Given the description of an element on the screen output the (x, y) to click on. 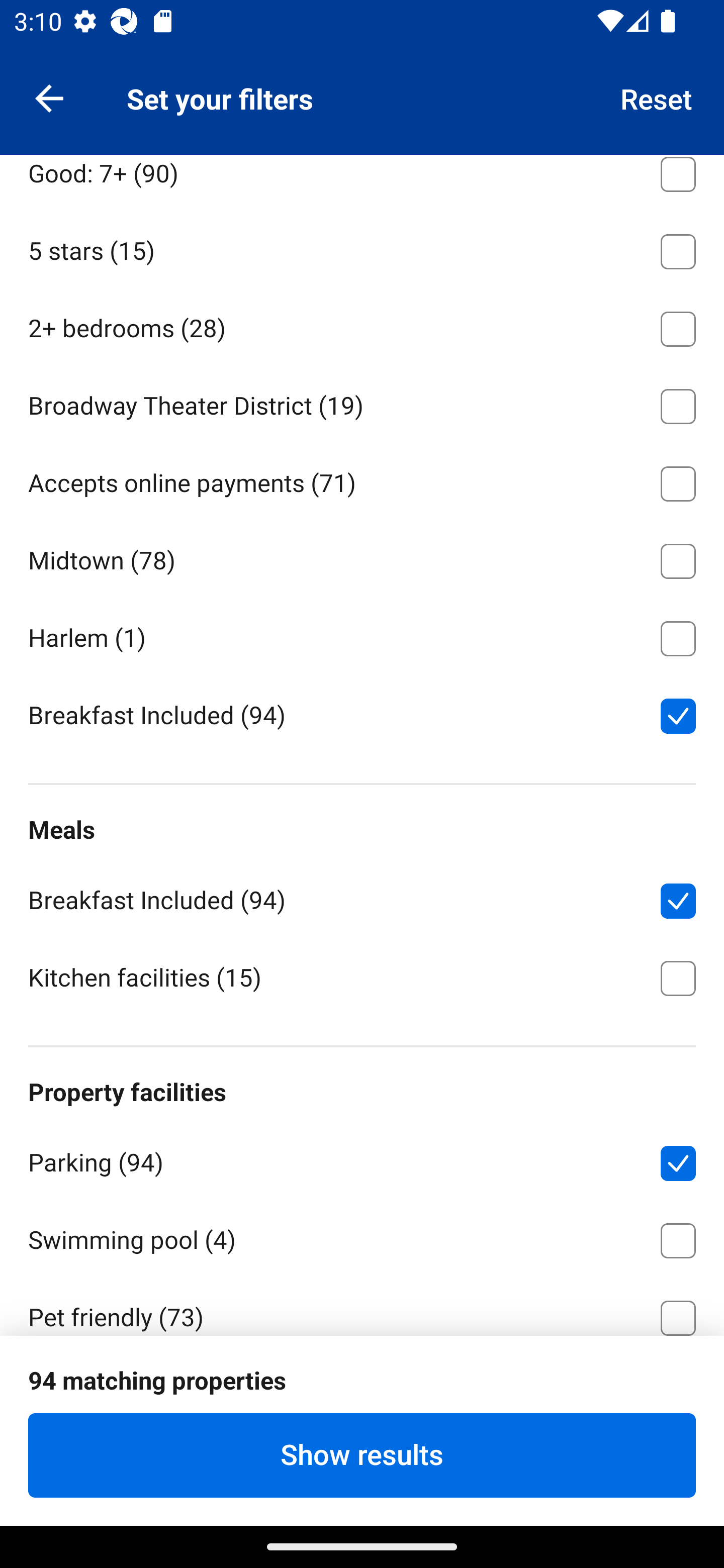
Navigate up (49, 97)
Reset (656, 97)
Good: 7+ ⁦(90) (361, 182)
5 stars ⁦(15) (361, 248)
2+ bedrooms ⁦(28) (361, 324)
Broadway Theater District ⁦(19) (361, 402)
Accepts online payments ⁦(71) (361, 480)
Midtown ⁦(78) (361, 557)
Harlem ⁦(1) (361, 634)
Breakfast Included ⁦(94) (361, 714)
Breakfast Included ⁦(94) (361, 897)
Kitchen facilities ⁦(15) (361, 976)
Parking ⁦(94) (361, 1159)
Swimming pool ⁦(4) (361, 1236)
Pet friendly ⁦(73) (361, 1305)
Free WiFi ⁦(82) (361, 1391)
Show results (361, 1454)
